Given the description of an element on the screen output the (x, y) to click on. 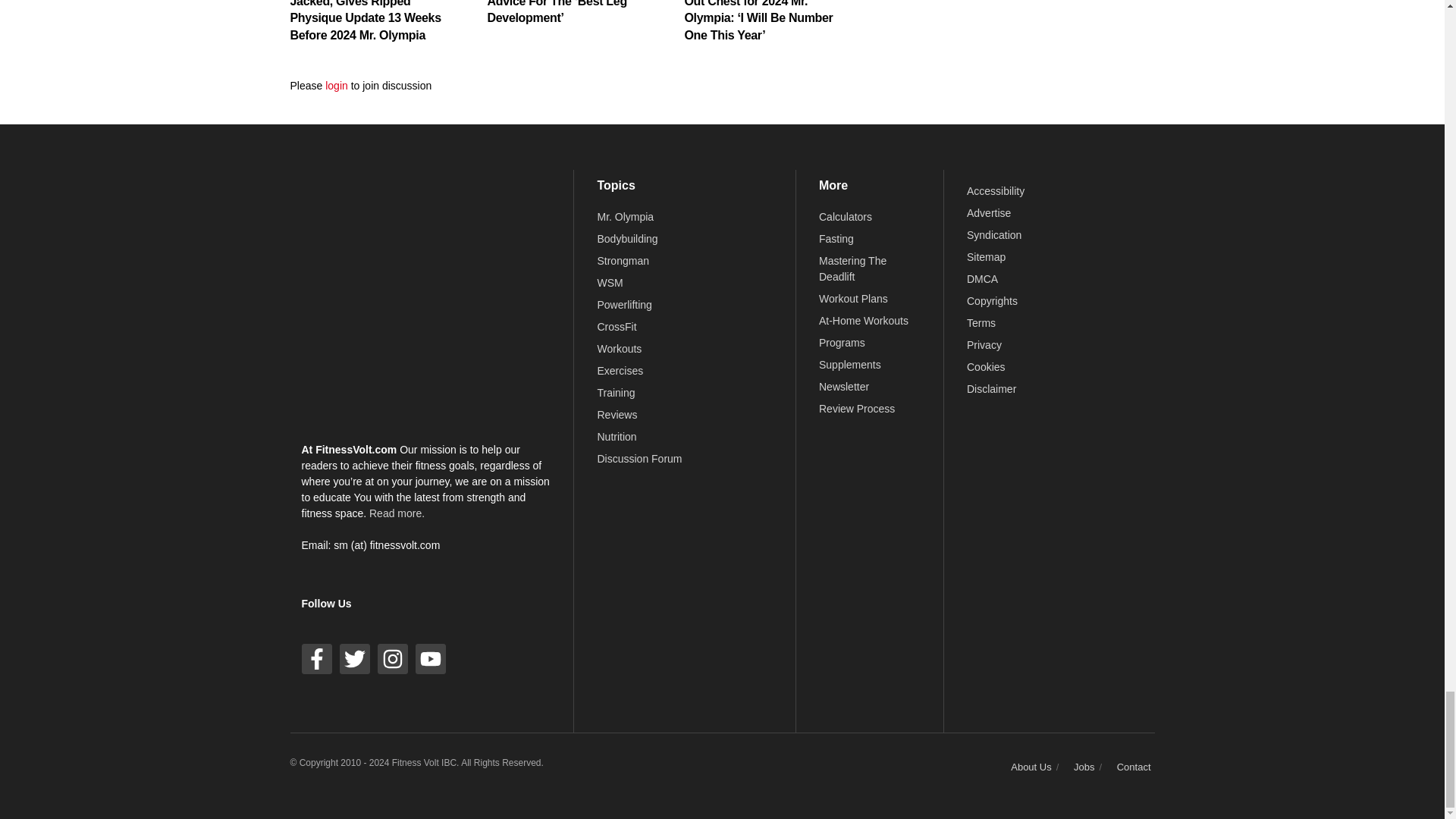
Accessibility Conformance Status (995, 191)
Read more about Fitness Volt (397, 512)
2019 Mr. Olympia News (624, 216)
